Given the description of an element on the screen output the (x, y) to click on. 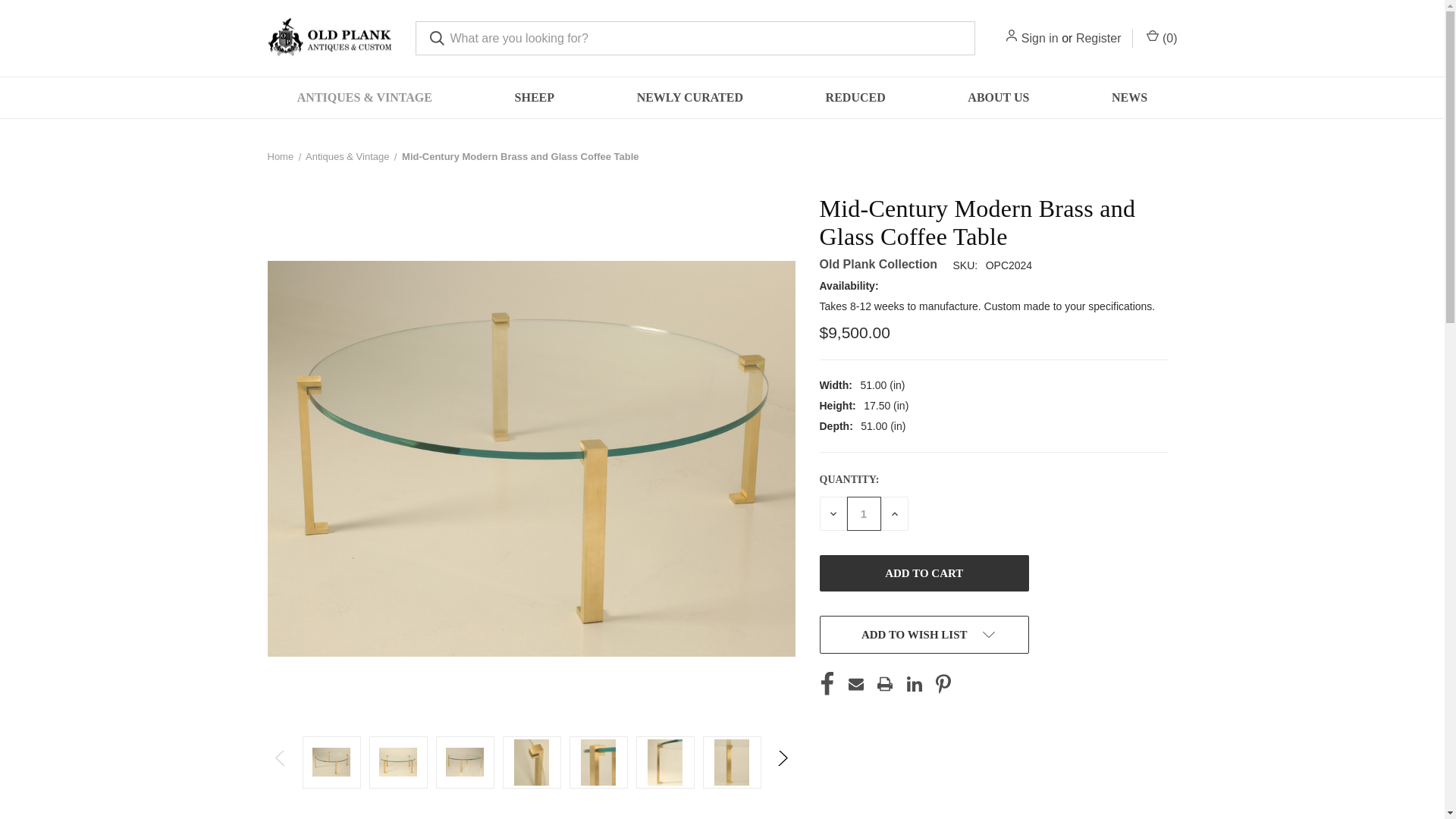
Sign in (1040, 37)
Mid-Century Modern Brass and Glass Coffee Table Angled (331, 761)
Add to Cart (922, 573)
1 (862, 513)
Mid-Century Modern Brass and Glass Coffee Table (464, 761)
Register (1098, 37)
Mid-Century Modern Brass and Glass Coffee Table Front (397, 761)
